Given the description of an element on the screen output the (x, y) to click on. 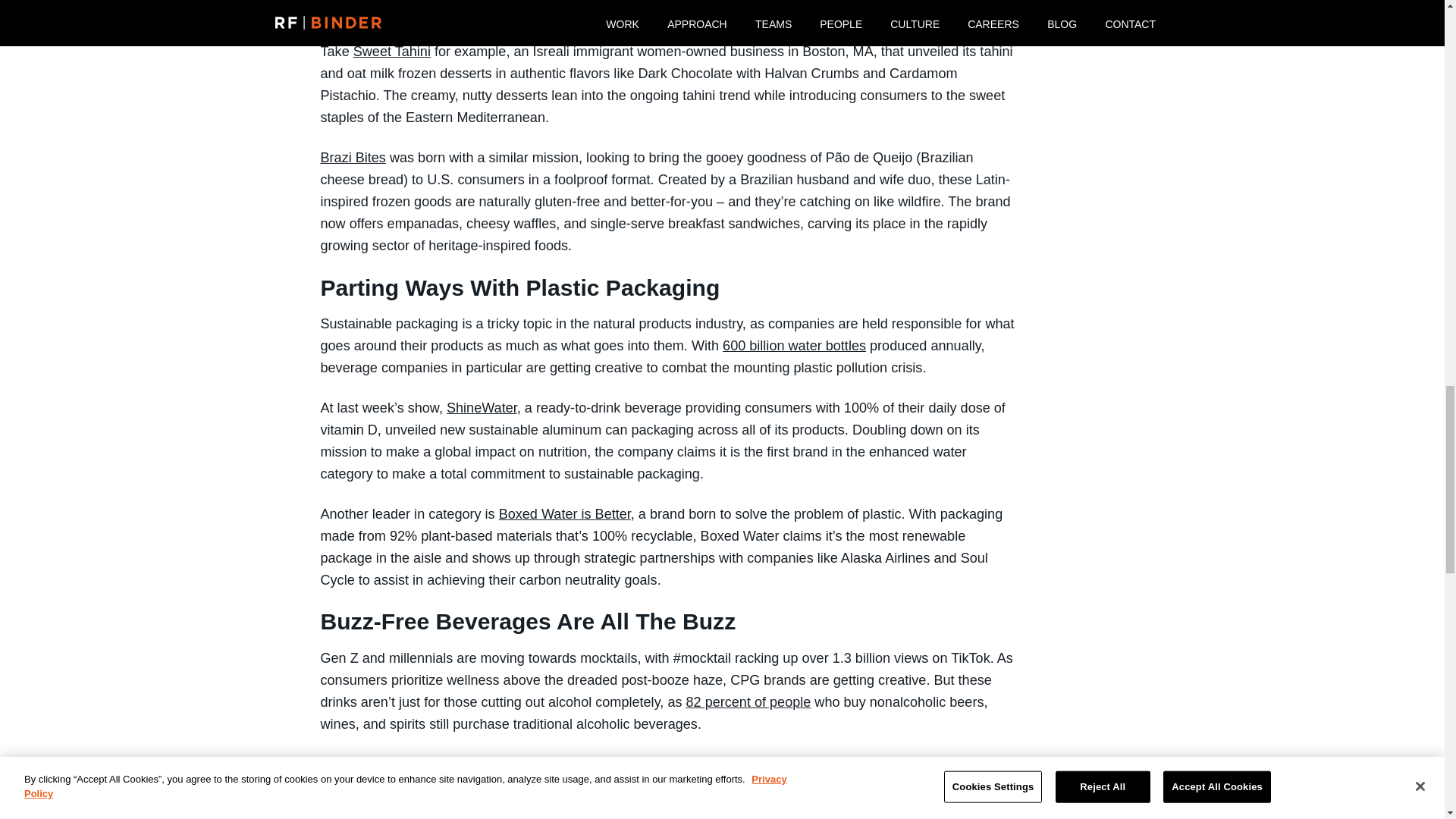
Brazi Bites (352, 157)
Sweet Tahini (391, 51)
ShineWater (481, 407)
PARCH Spirits (364, 764)
82 percent of people (747, 702)
600 billion water bottles (794, 345)
Boxed Water is Better (564, 513)
